Given the description of an element on the screen output the (x, y) to click on. 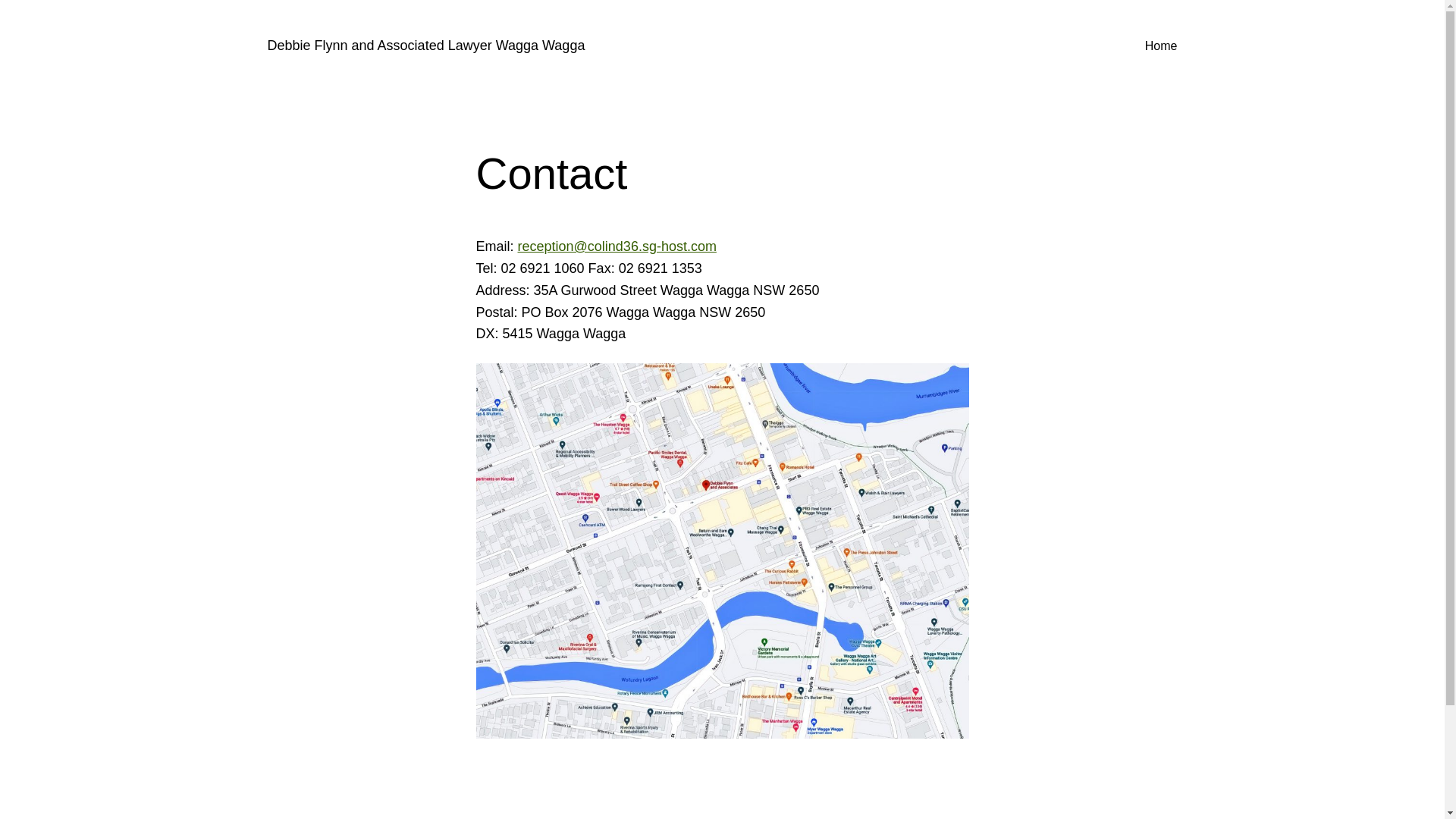
Home Element type: text (1161, 46)
Debbie Flynn and Associated Lawyer Wagga Wagga Element type: text (425, 45)
reception@colind36.sg-host.com Element type: text (616, 246)
